Given the description of an element on the screen output the (x, y) to click on. 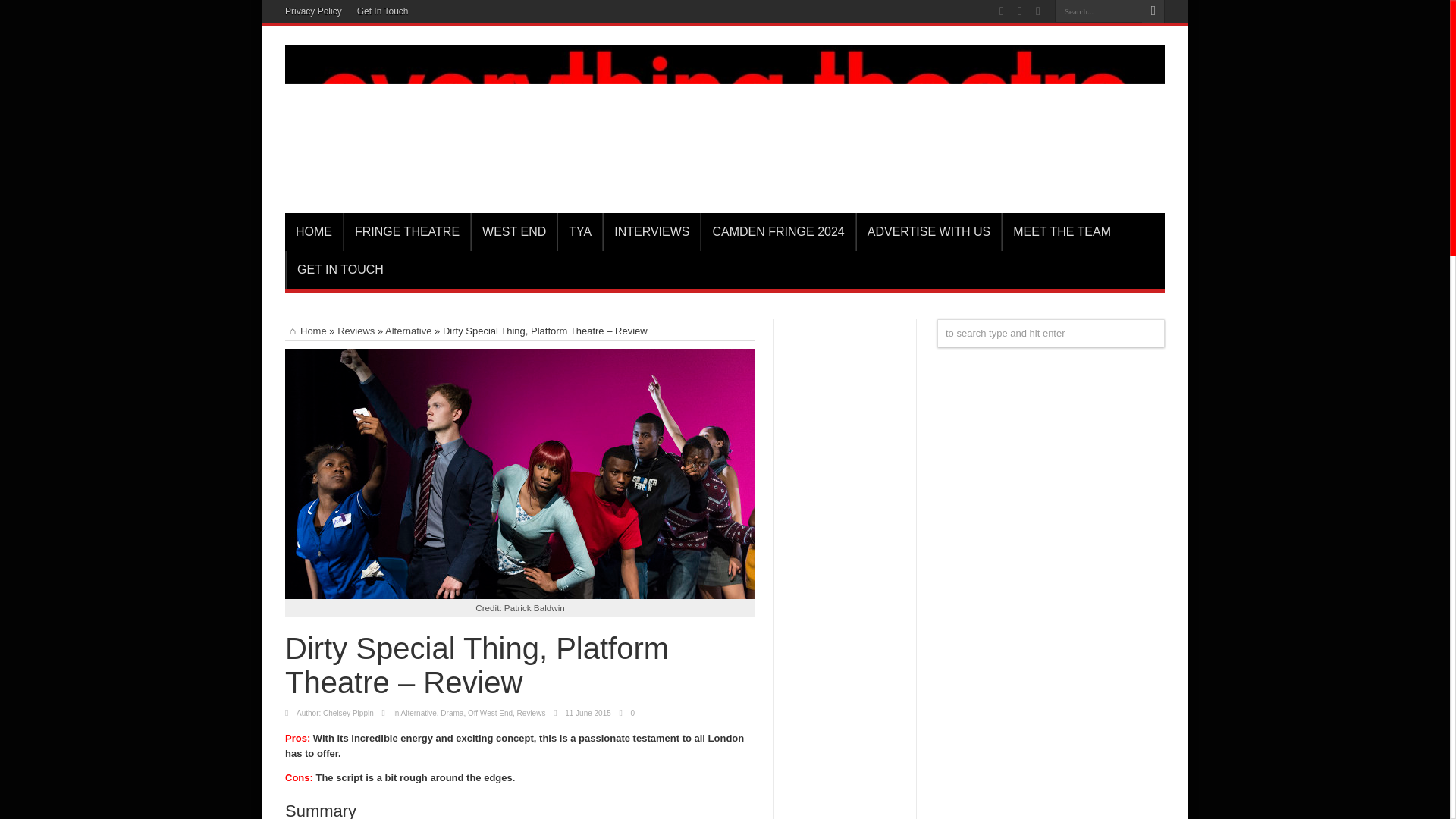
INTERVIEWS (651, 231)
Home (305, 330)
MEET THE TEAM (1061, 231)
CAMDEN FRINGE 2024 (777, 231)
TYA (579, 231)
HOME (313, 231)
Get In Touch (382, 11)
ADVERTISE WITH US (928, 231)
Chelsey Pippin (348, 713)
WEST END (513, 231)
